Given the description of an element on the screen output the (x, y) to click on. 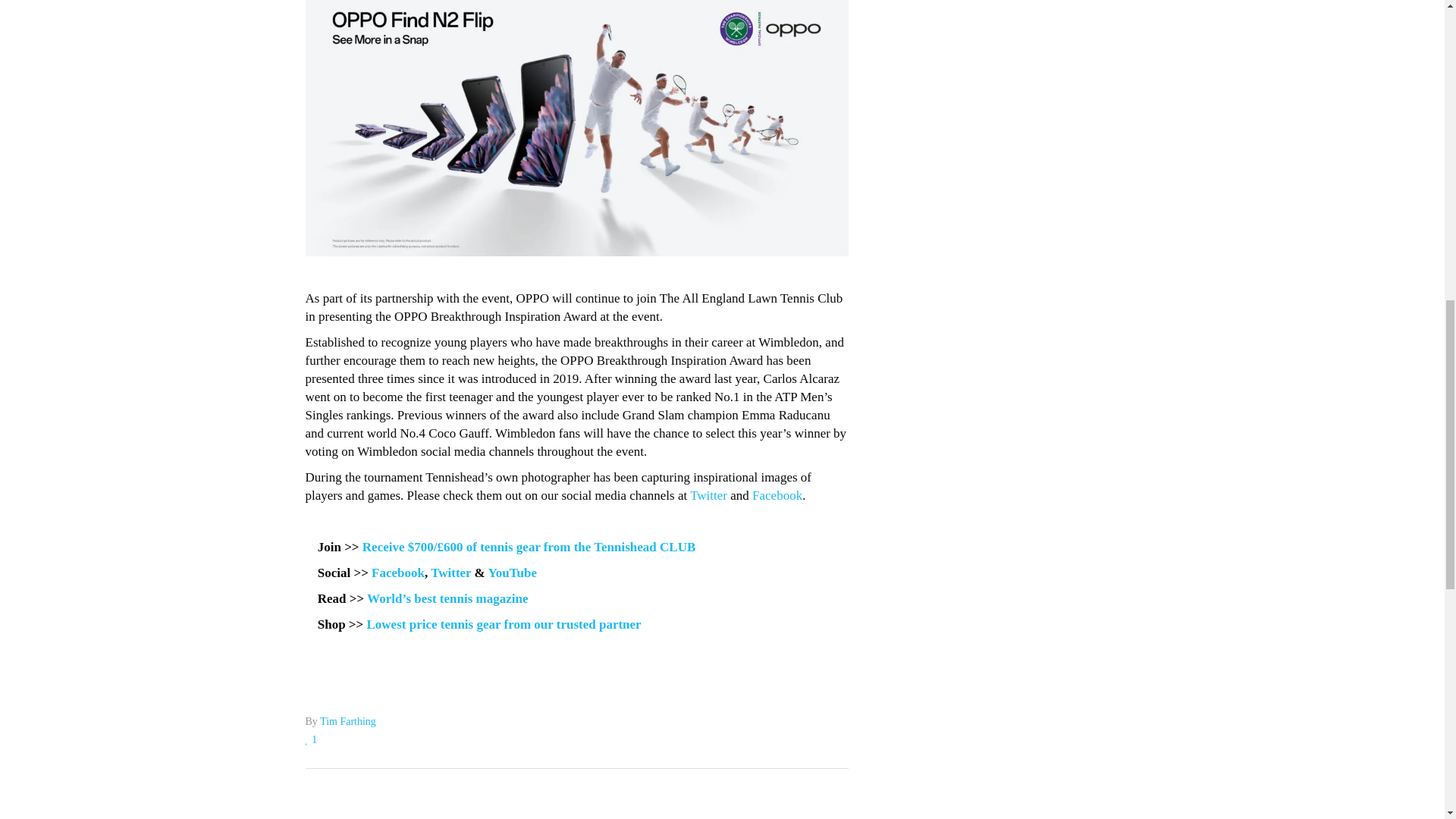
Like this (310, 739)
